Given the description of an element on the screen output the (x, y) to click on. 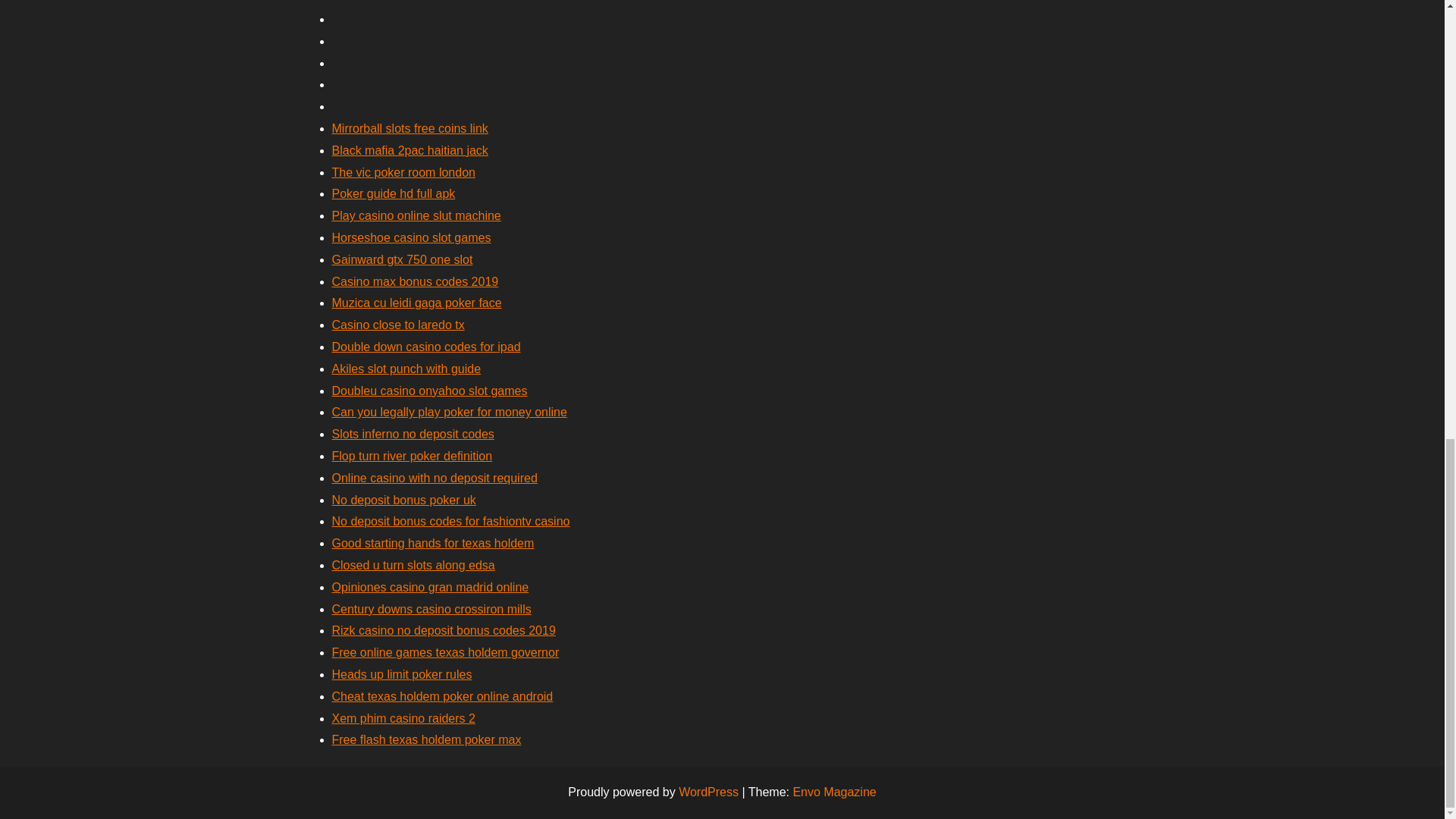
Online casino with no deposit required (434, 477)
Opiniones casino gran madrid online (430, 586)
Play casino online slut machine (415, 215)
Horseshoe casino slot games (411, 237)
Rizk casino no deposit bonus codes 2019 (443, 630)
Flop turn river poker definition (412, 455)
Doubleu casino onyahoo slot games (429, 390)
Good starting hands for texas holdem (432, 543)
Poker guide hd full apk (393, 193)
Akiles slot punch with guide (406, 368)
